Given the description of an element on the screen output the (x, y) to click on. 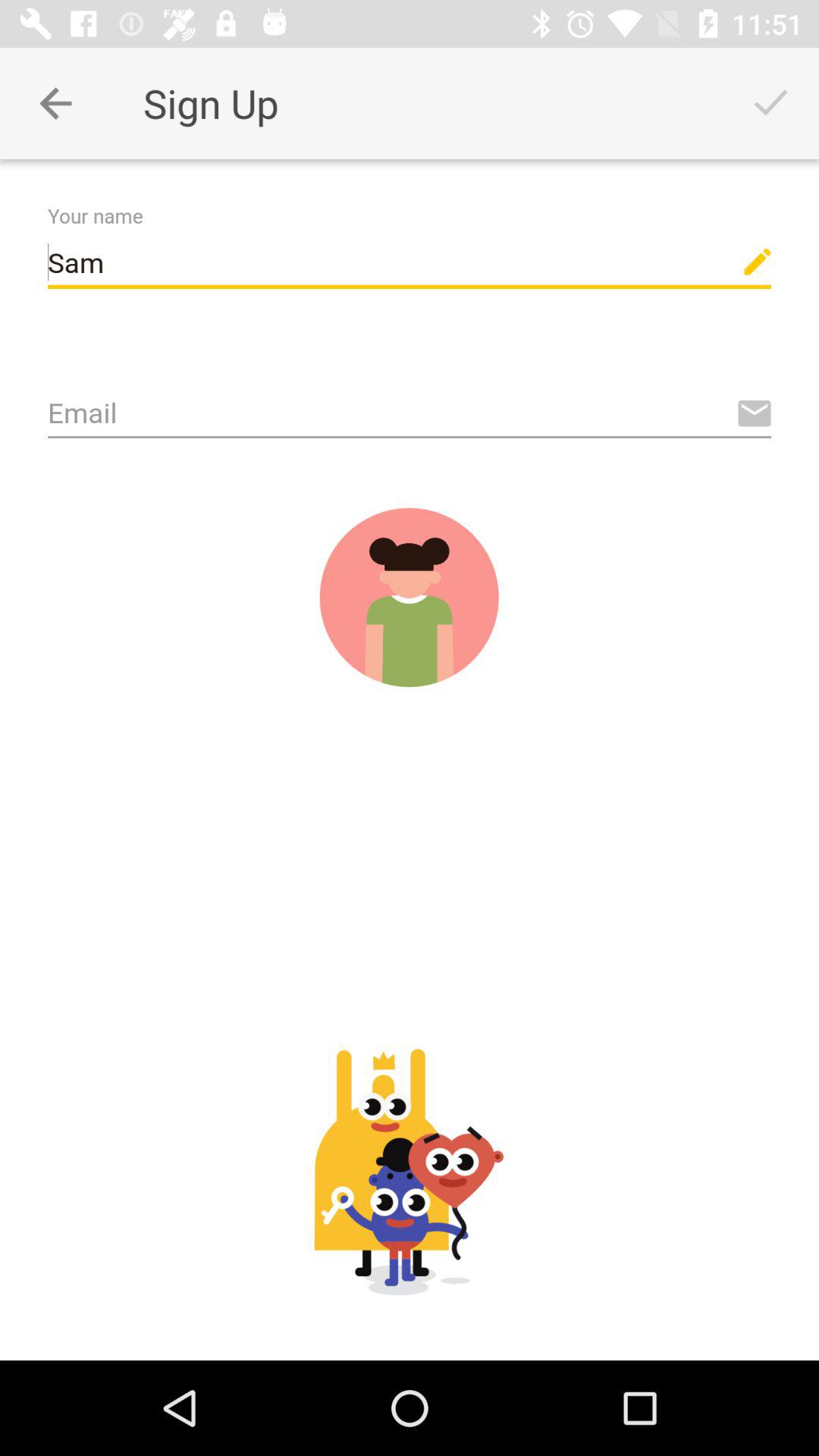
submit and sign up (408, 597)
